Given the description of an element on the screen output the (x, y) to click on. 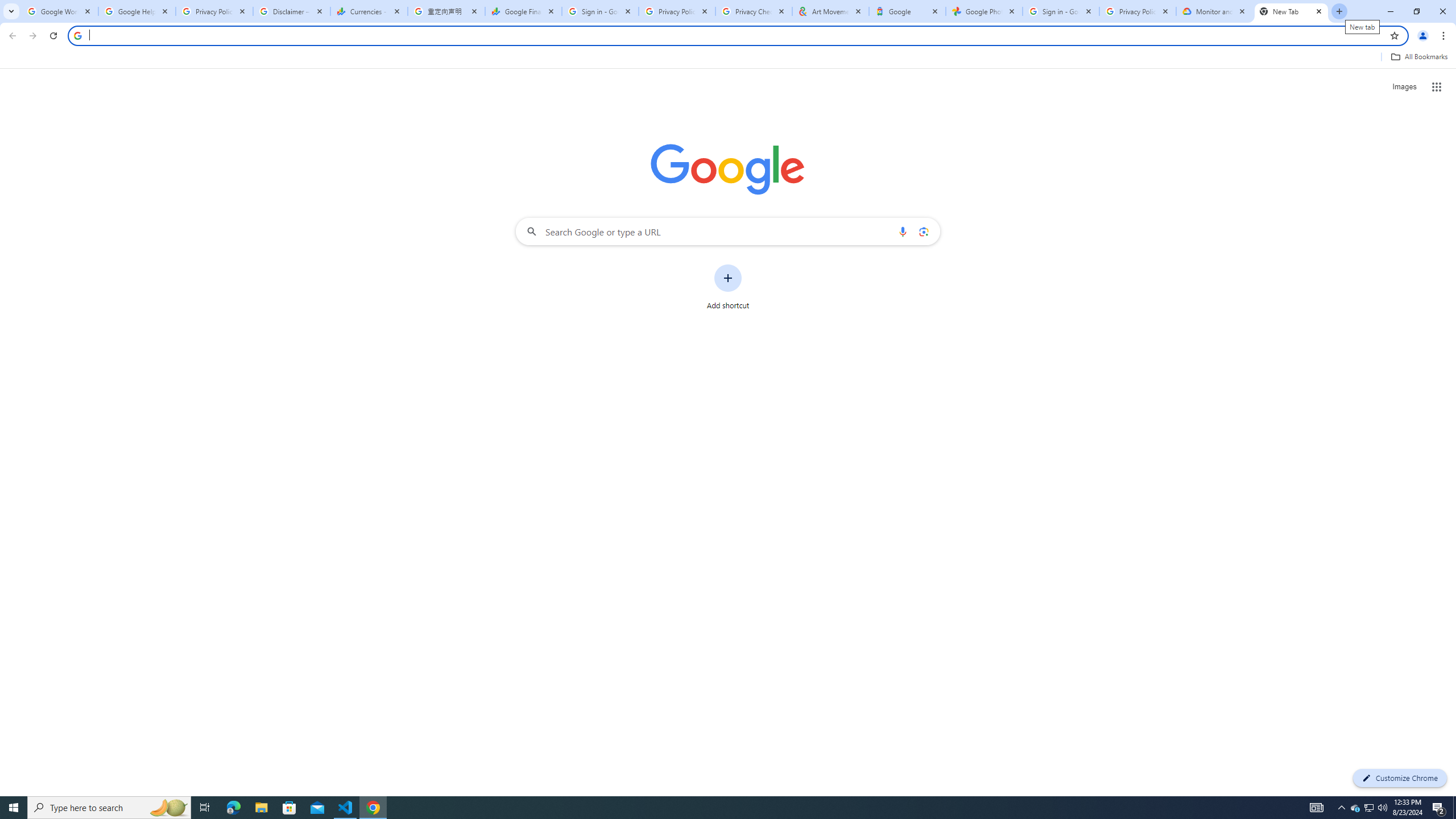
Google Workspace Admin Community (59, 11)
